Given the description of an element on the screen output the (x, y) to click on. 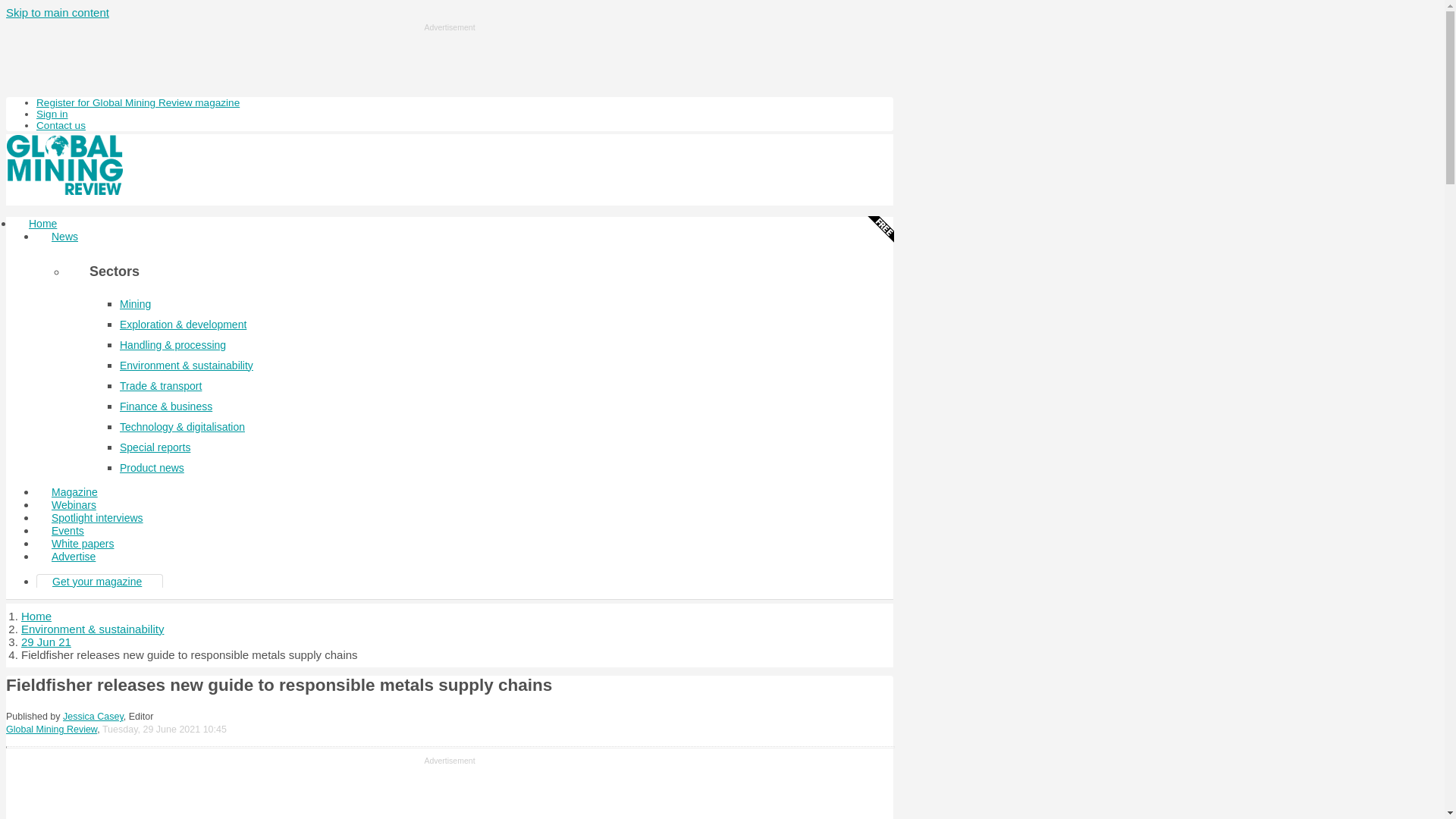
Contact us (60, 125)
Get your magazine (97, 581)
White papers (82, 543)
Advertise (73, 556)
29 Jun 21 (46, 641)
Jessica Casey (92, 716)
Contact us (60, 125)
Events (67, 530)
Home (35, 615)
Magazine (74, 492)
